Given the description of an element on the screen output the (x, y) to click on. 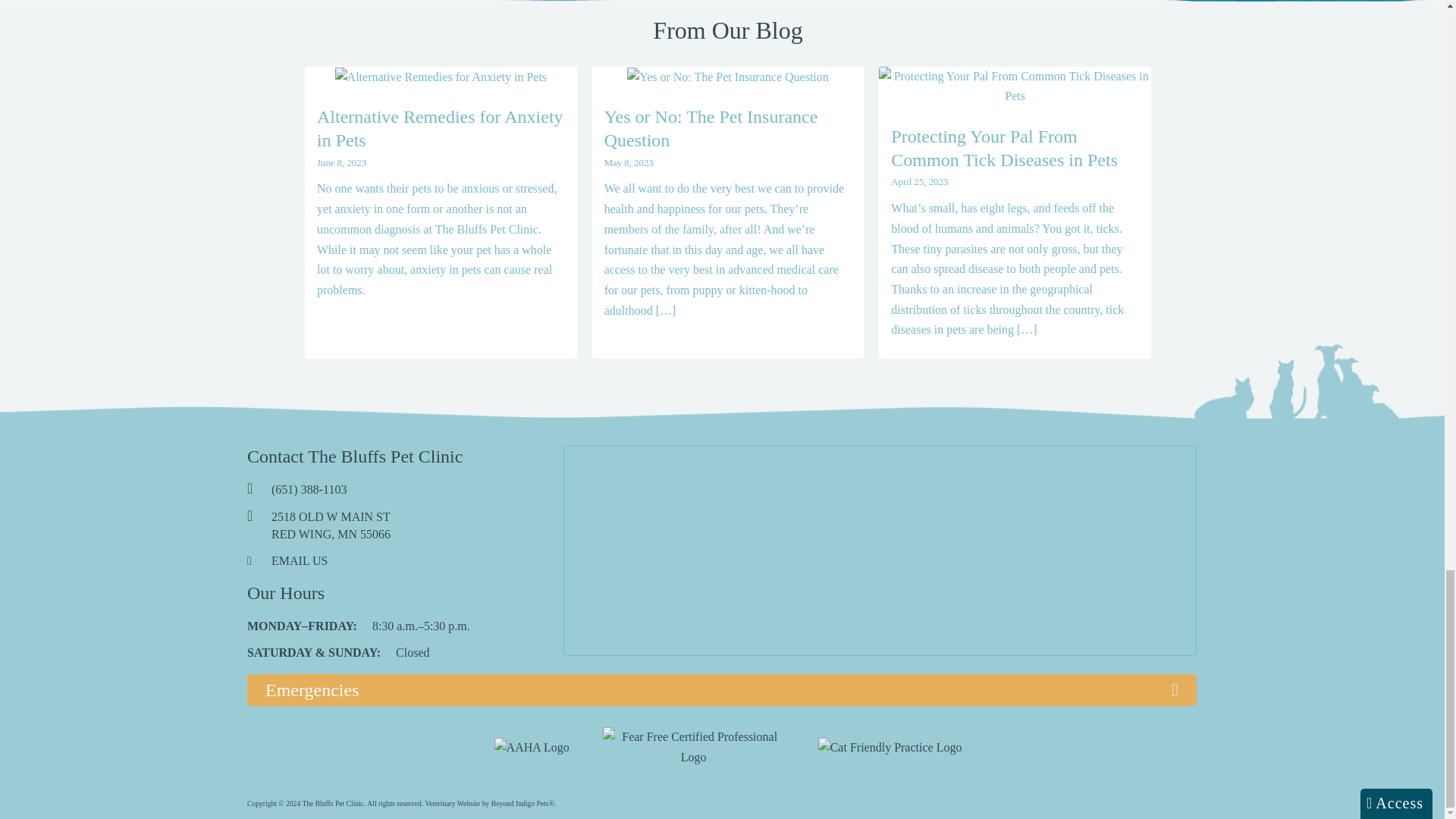
Beyond Indigo Pets (452, 803)
Cat Friendly Practice Logo (890, 747)
Protecting Your Pal From Common Tick Diseases in Pets (1015, 86)
Yes or No: The Pet Insurance Question (727, 77)
AAHA Logo (532, 747)
Fear Free Certified Professional Logo (693, 747)
Alternative Remedies for Anxiety in Pets (440, 77)
The Bluffs Pet Clinic Map (879, 550)
